Given the description of an element on the screen output the (x, y) to click on. 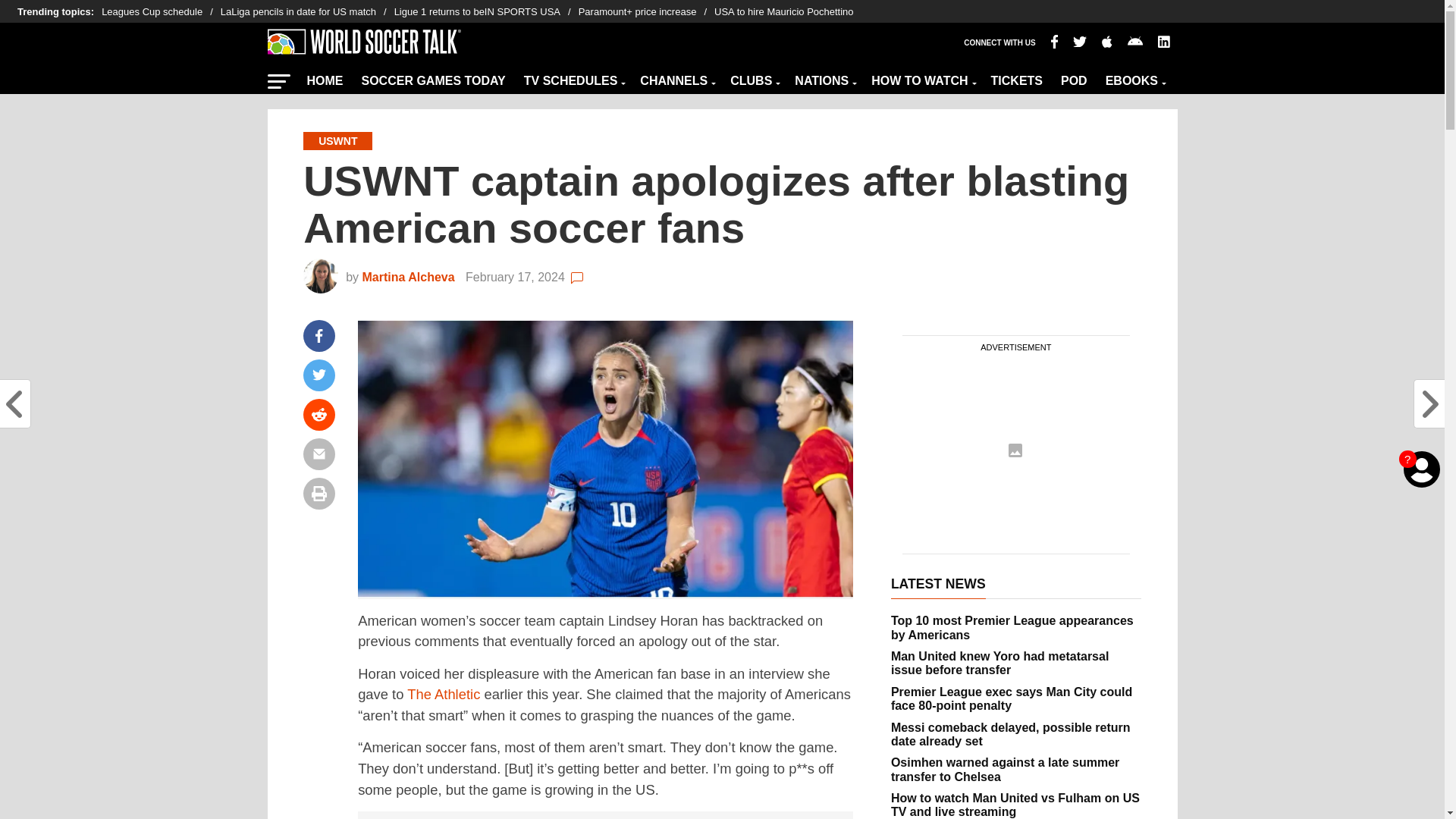
Leagues Cup schedule (161, 12)
Martina Alcheva (411, 277)
USA to hire Mauricio Pochettino (783, 12)
The Athletic (443, 693)
HOW TO WATCH (921, 77)
NATIONS (823, 77)
CLUBS (753, 77)
LaLiga pencils in date for US match (307, 12)
TV SCHEDULES (573, 77)
SOCCER GAMES TODAY (432, 77)
